Given the description of an element on the screen output the (x, y) to click on. 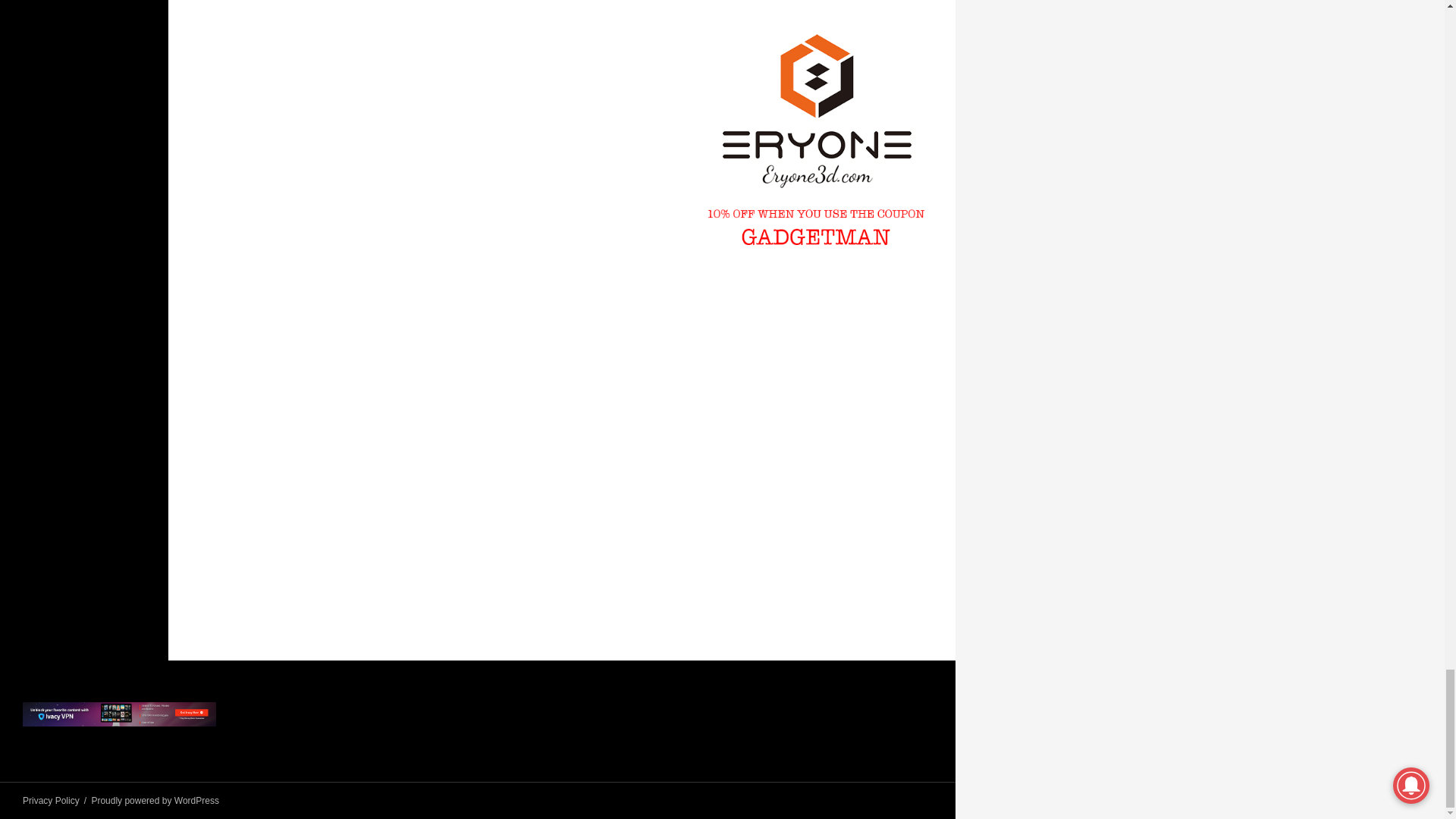
The Gadget Man recommends Eryone 3D Printer Filament (816, 139)
